Given the description of an element on the screen output the (x, y) to click on. 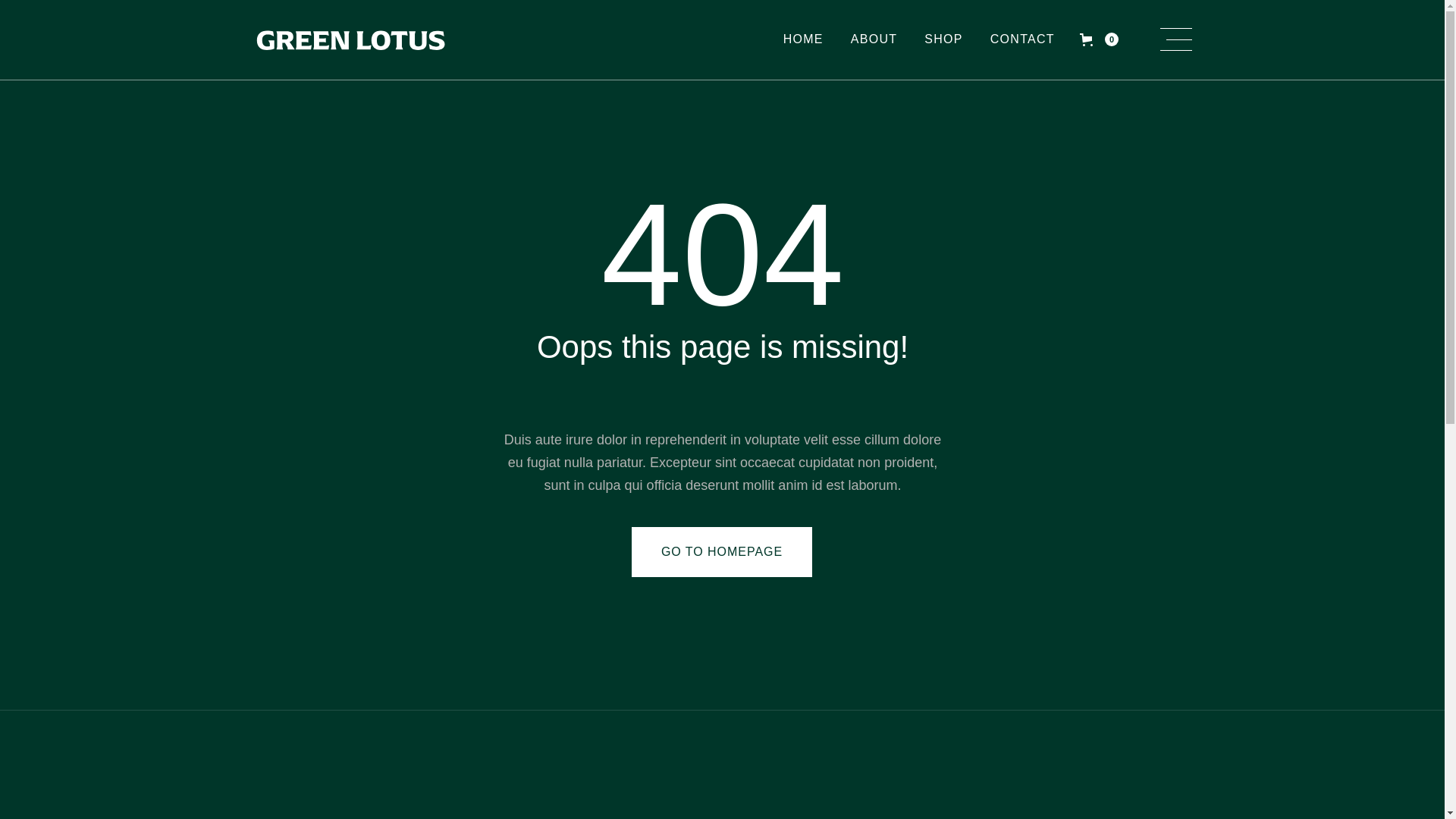
ABOUT Element type: text (874, 39)
HOME Element type: text (803, 39)
GO TO HOMEPAGE Element type: text (721, 552)
CONTACT Element type: text (1022, 39)
SHOP Element type: text (942, 39)
0 Element type: text (1098, 39)
